Given the description of an element on the screen output the (x, y) to click on. 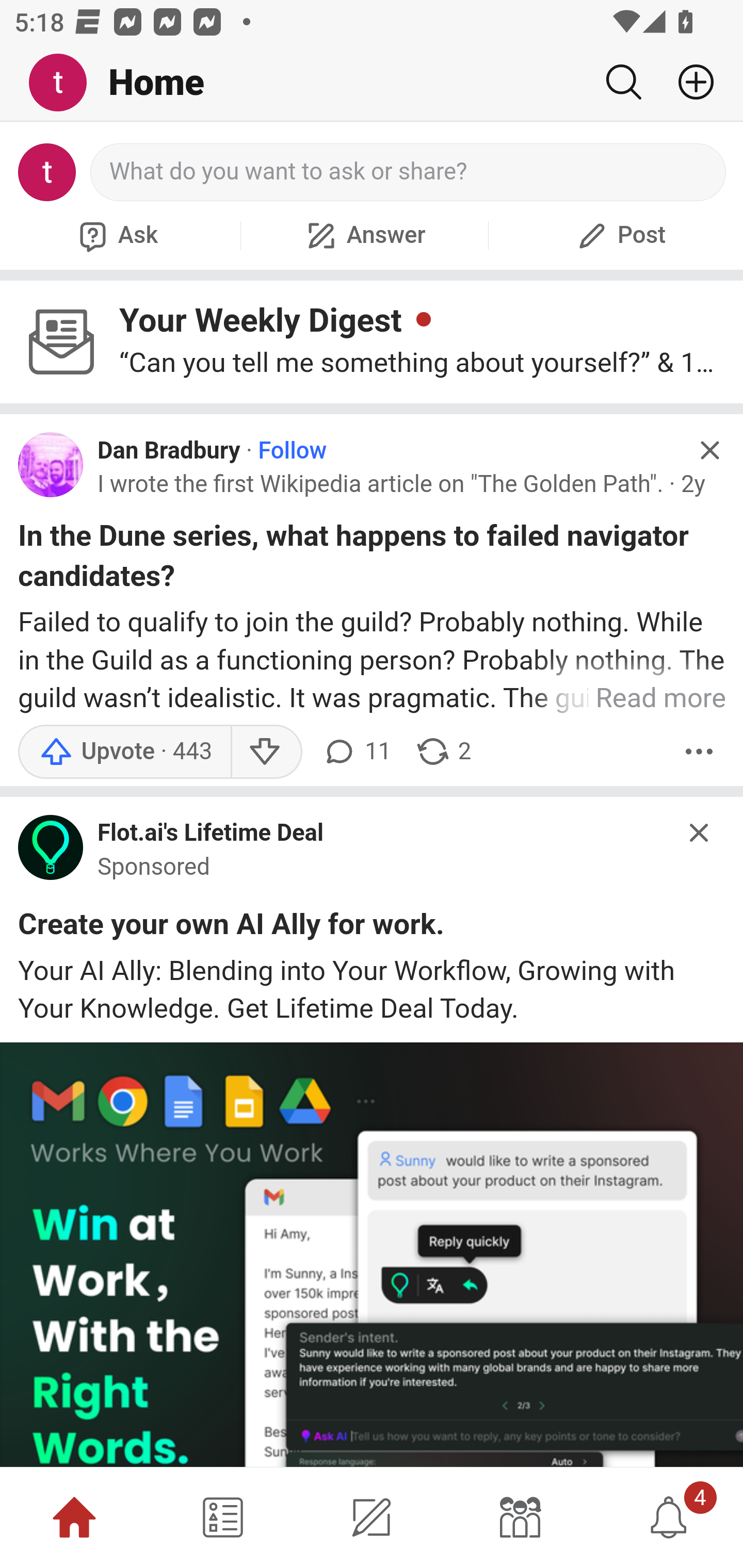
Me Home Search Add (371, 82)
Me (64, 83)
Search (623, 82)
Add (688, 82)
4 (668, 1517)
